Given the description of an element on the screen output the (x, y) to click on. 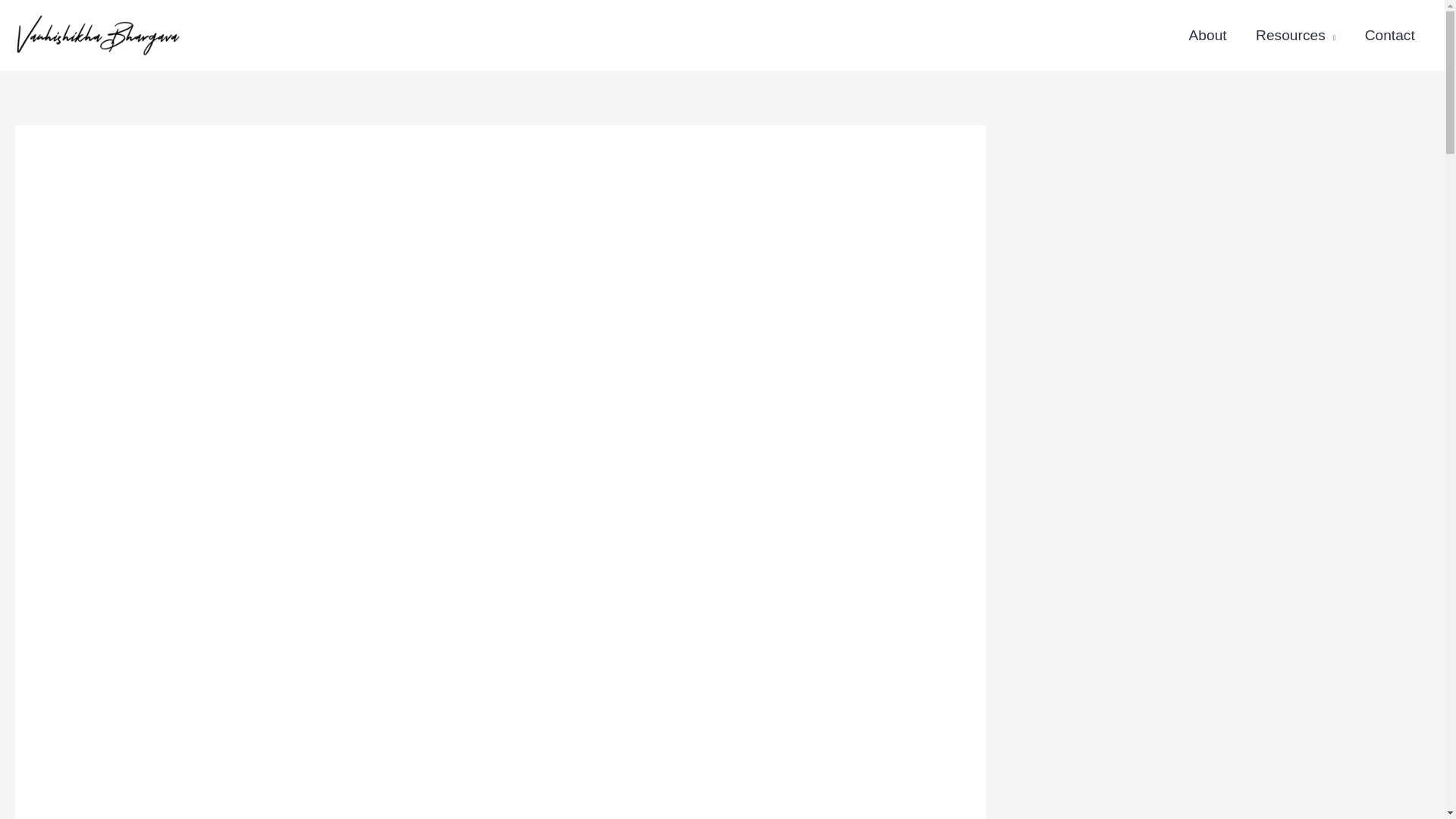
Resources (1296, 35)
About (1207, 35)
Contact (1389, 35)
